Given the description of an element on the screen output the (x, y) to click on. 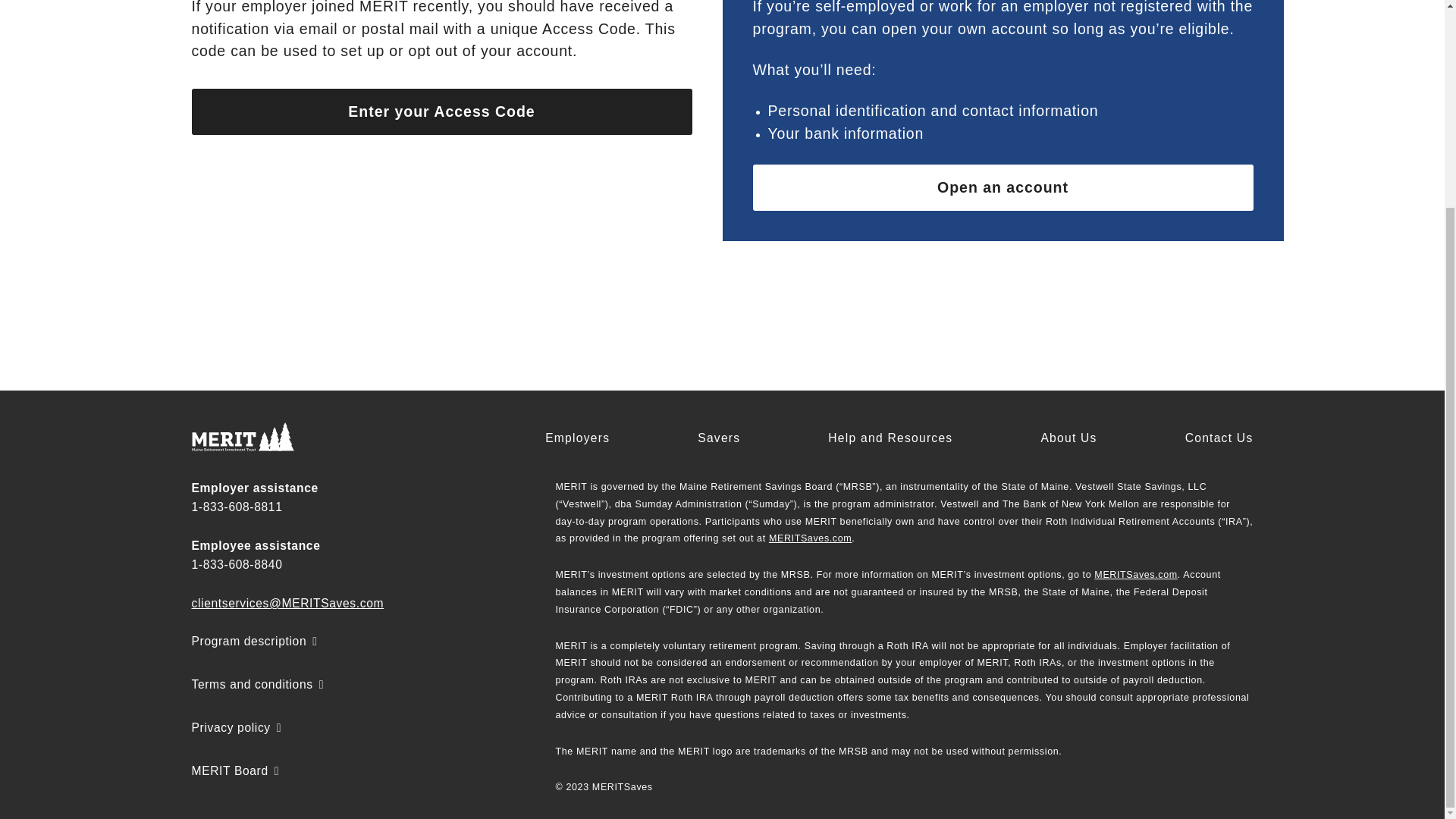
Employers (577, 437)
About Us (1068, 437)
Contact Us (1219, 437)
MERITSaves.com (809, 538)
Savers (718, 437)
Help and Resources (890, 437)
MERITSaves.com (1135, 574)
